Given the description of an element on the screen output the (x, y) to click on. 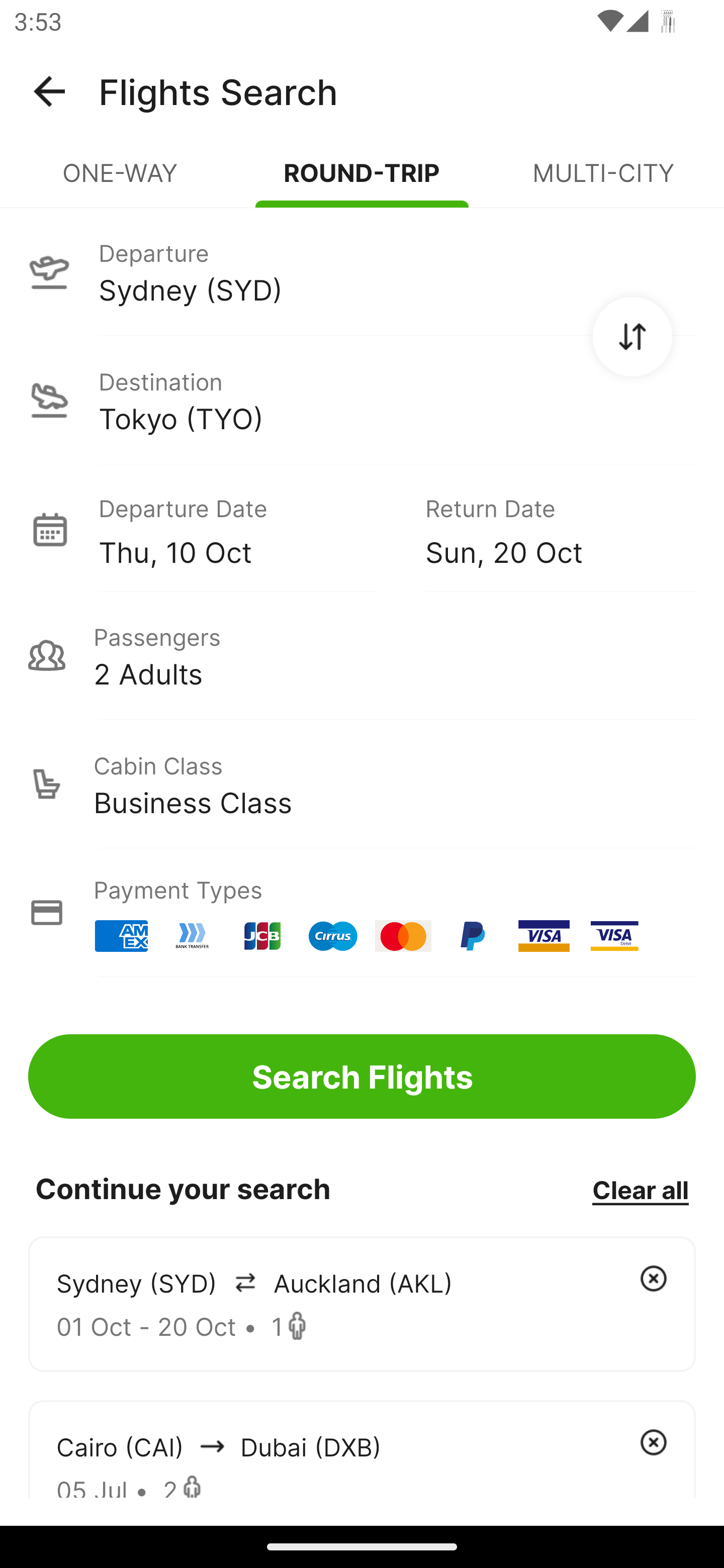
ONE-WAY (120, 180)
ROUND-TRIP (361, 180)
MULTI-CITY (603, 180)
Departure Sydney (SYD) (362, 270)
Destination Tokyo (TYO) (362, 400)
Departure Date Thu, 10 Oct (247, 528)
Return Date Sun, 20 Oct (546, 528)
Passengers 2 Adults (362, 655)
Cabin Class Business Class (362, 783)
Payment Types (362, 912)
Search Flights (361, 1075)
Clear all (640, 1189)
Cairo (CAI)  arrowIcon  Dubai (DXB) 05 Jul •  2  (361, 1448)
